Given the description of an element on the screen output the (x, y) to click on. 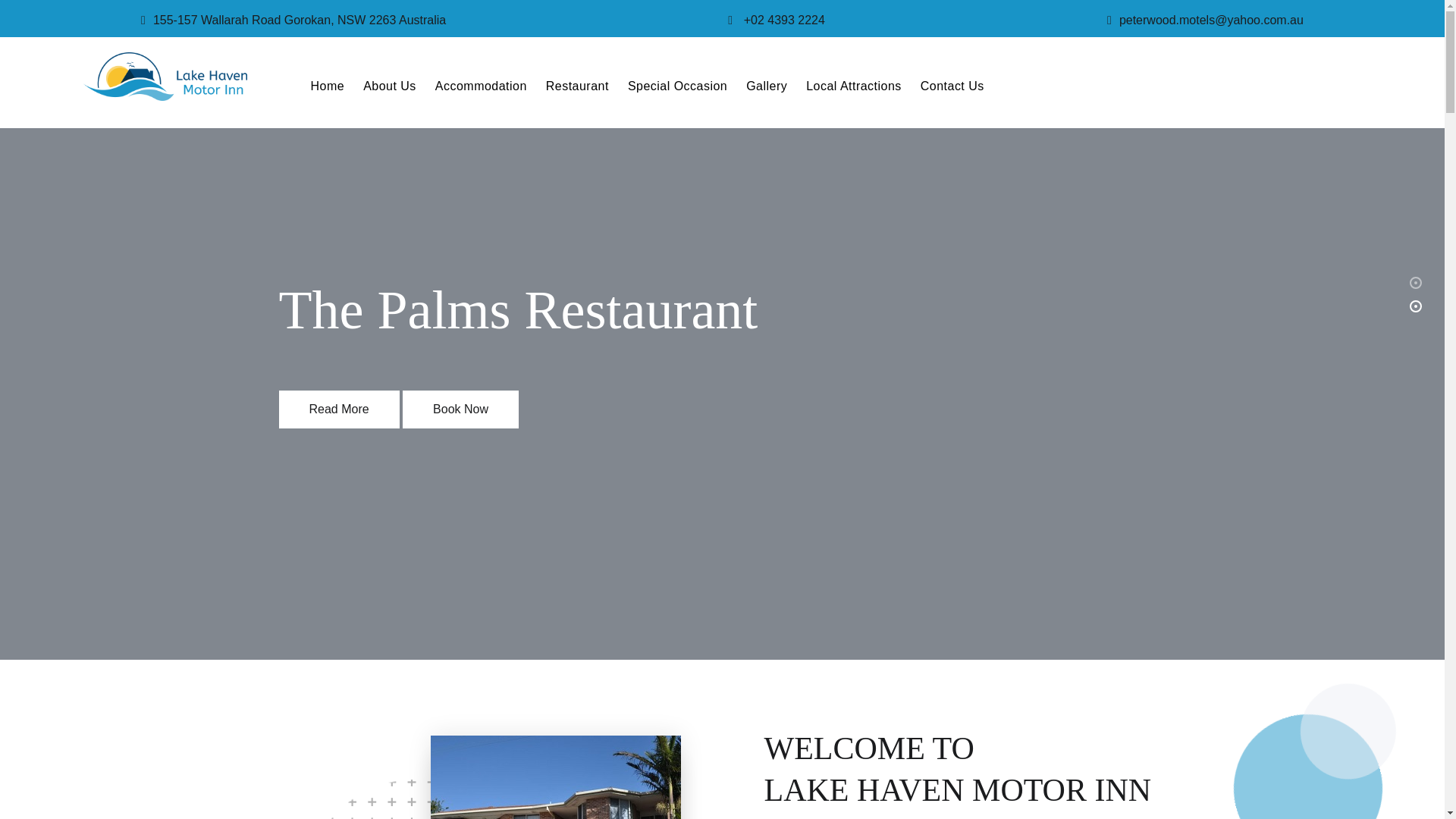
Restaurant Element type: text (577, 82)
Accommodation Element type: text (481, 82)
Contact Us Element type: text (952, 82)
peterwood.motels@yahoo.com.au Element type: text (1211, 19)
Local Attractions Element type: text (853, 82)
About Us Element type: text (389, 82)
Home Element type: text (327, 82)
Gallery Element type: text (766, 82)
+02 4393 2224 Element type: text (784, 19)
Special Occasion Element type: text (677, 82)
